Given the description of an element on the screen output the (x, y) to click on. 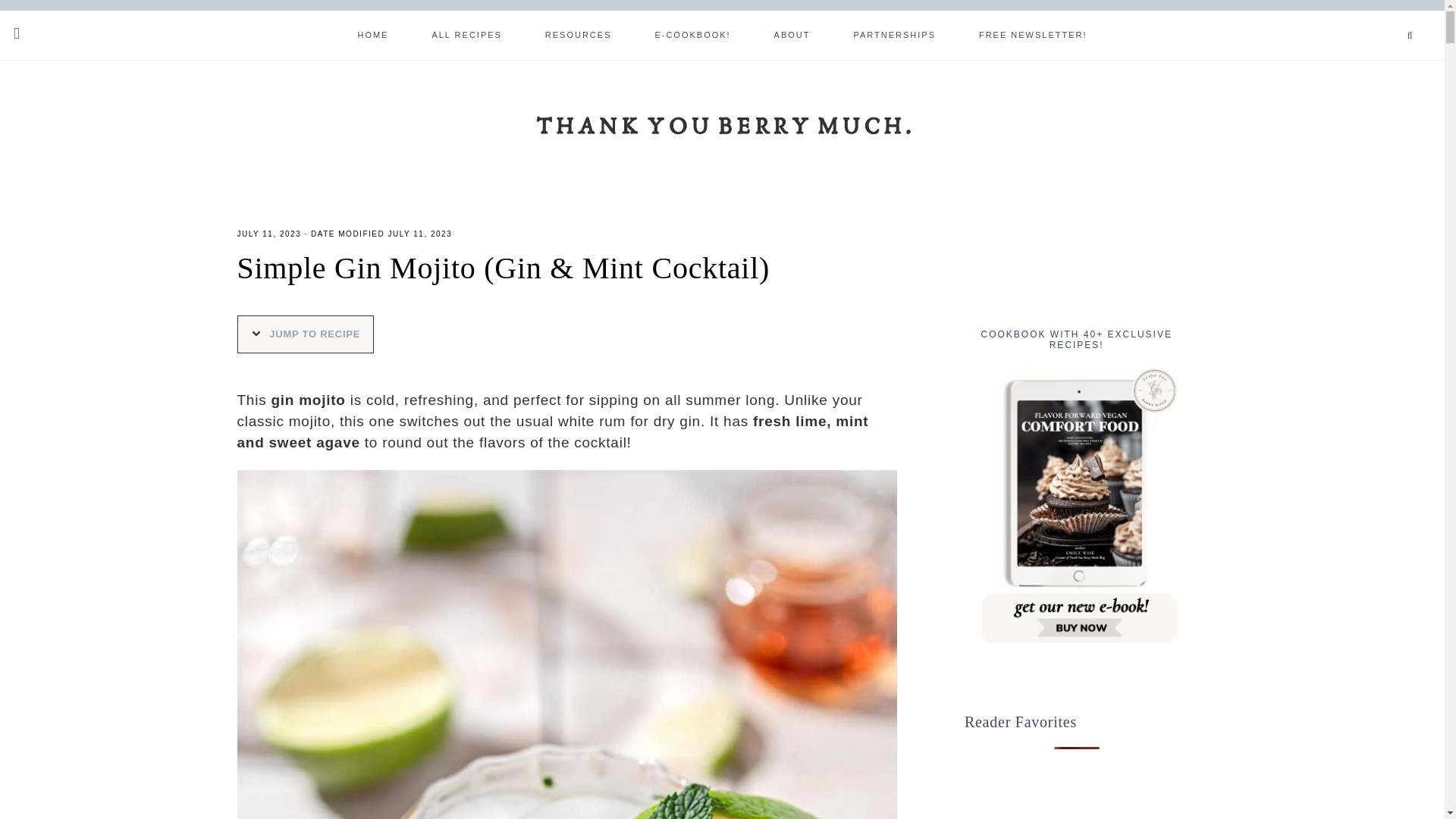
PARTNERSHIPS (893, 33)
E-COOKBOOK! (691, 33)
HOME (372, 33)
ALL RECIPES (466, 33)
FREE NEWSLETTER! (1032, 33)
RESOURCES (578, 33)
ABOUT (791, 33)
